Given the description of an element on the screen output the (x, y) to click on. 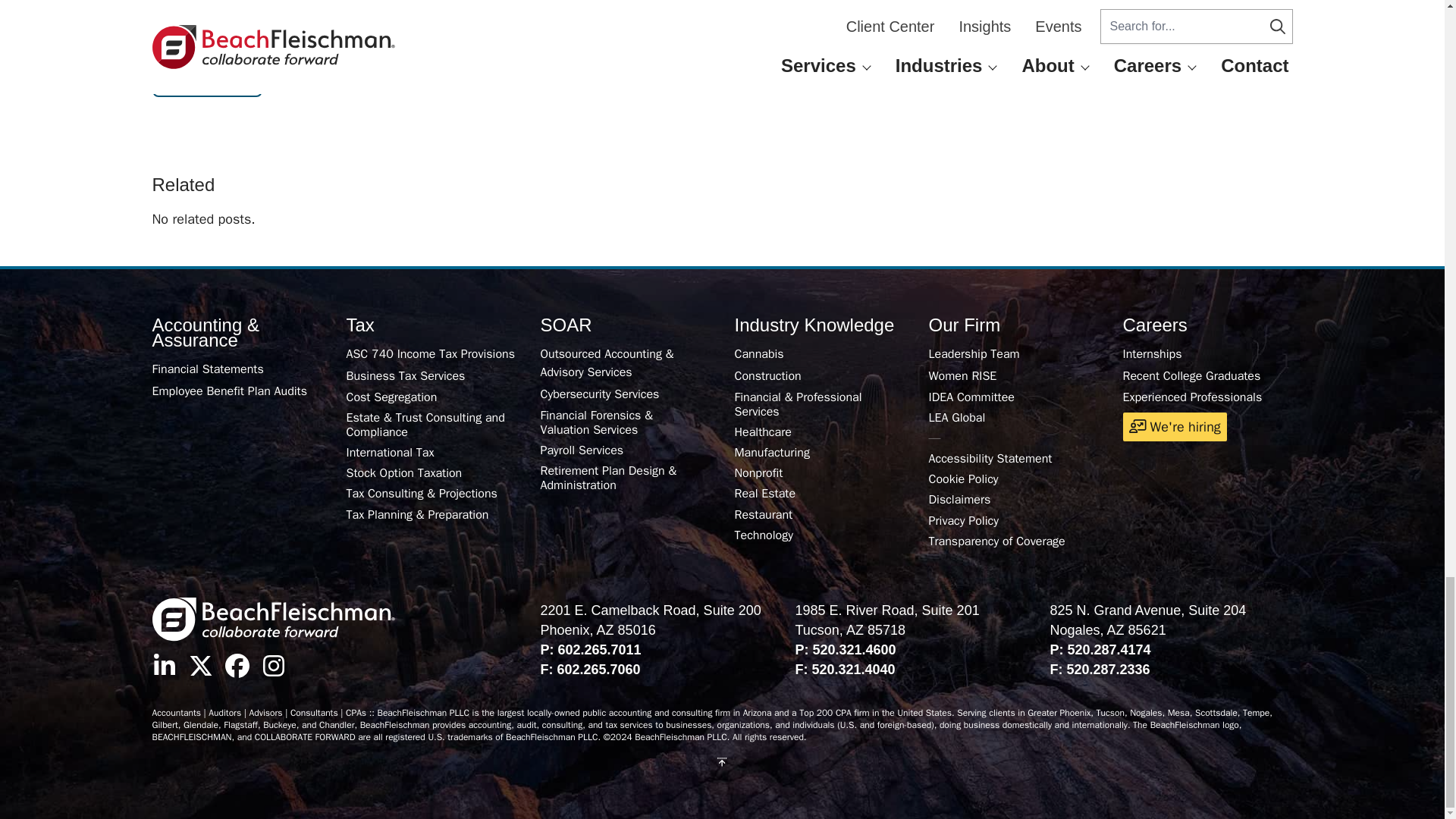
Back to top (721, 762)
